Given the description of an element on the screen output the (x, y) to click on. 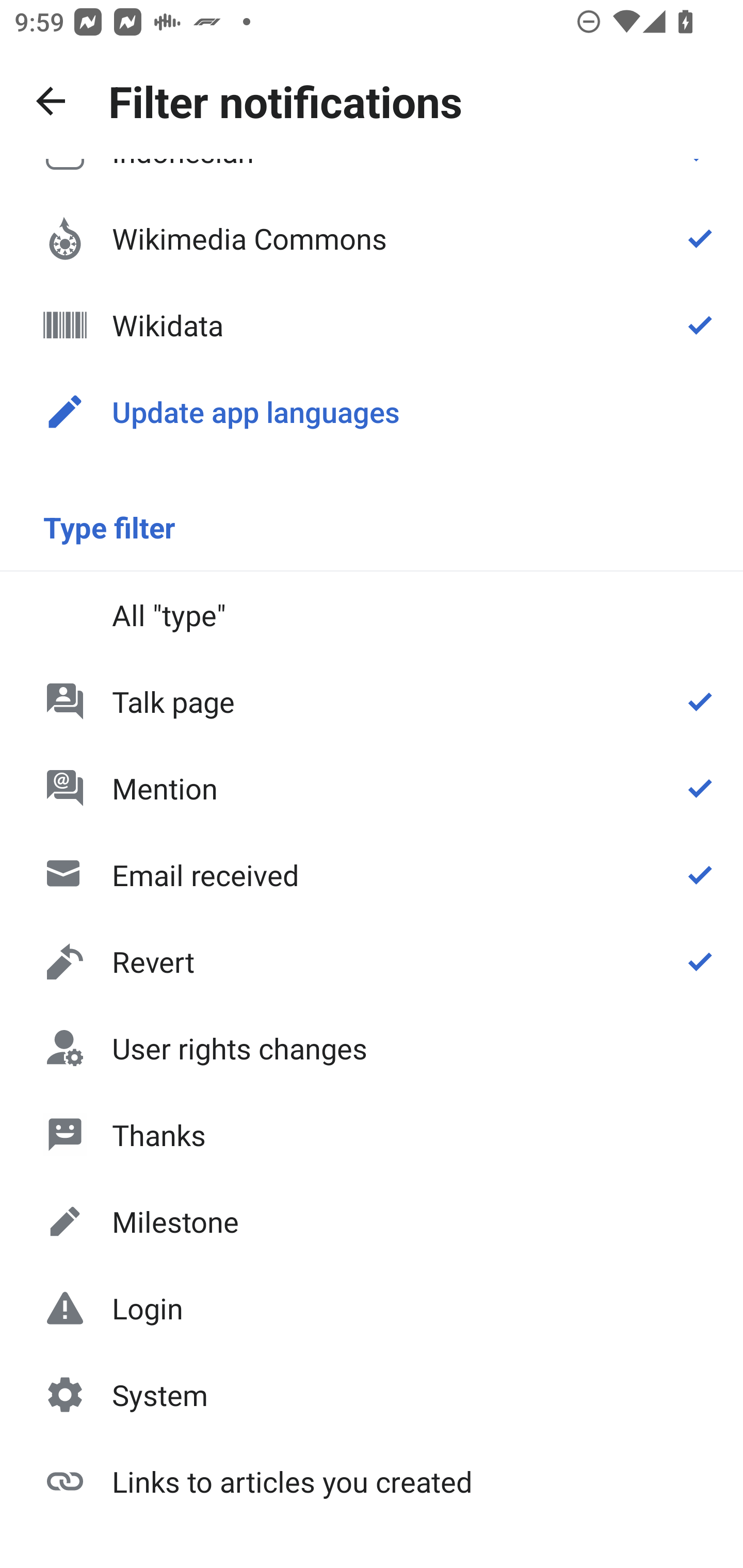
Navigate up (50, 101)
Wikimedia Commons (371, 238)
Wikidata (371, 325)
Update app languages (371, 411)
All "type" (371, 614)
Talk page (371, 701)
Mention (371, 787)
Email received (371, 874)
Revert (371, 961)
User rights changes (371, 1048)
Thanks (371, 1134)
Milestone (371, 1221)
Login (371, 1308)
System (371, 1394)
Links to articles you created (371, 1480)
